Given the description of an element on the screen output the (x, y) to click on. 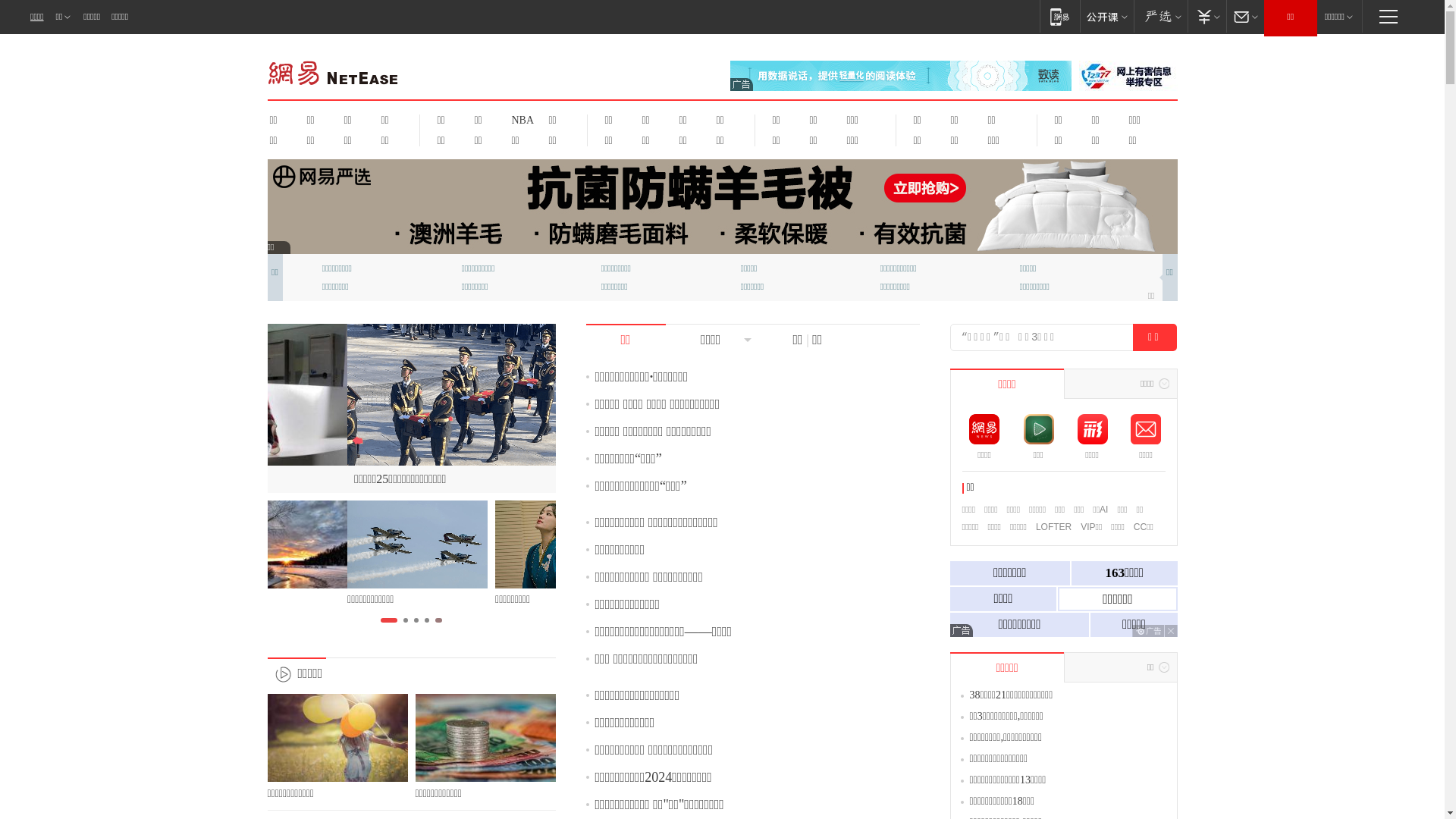
LOFTER Element type: text (1053, 526)
NBA Element type: text (520, 119)
